Given the description of an element on the screen output the (x, y) to click on. 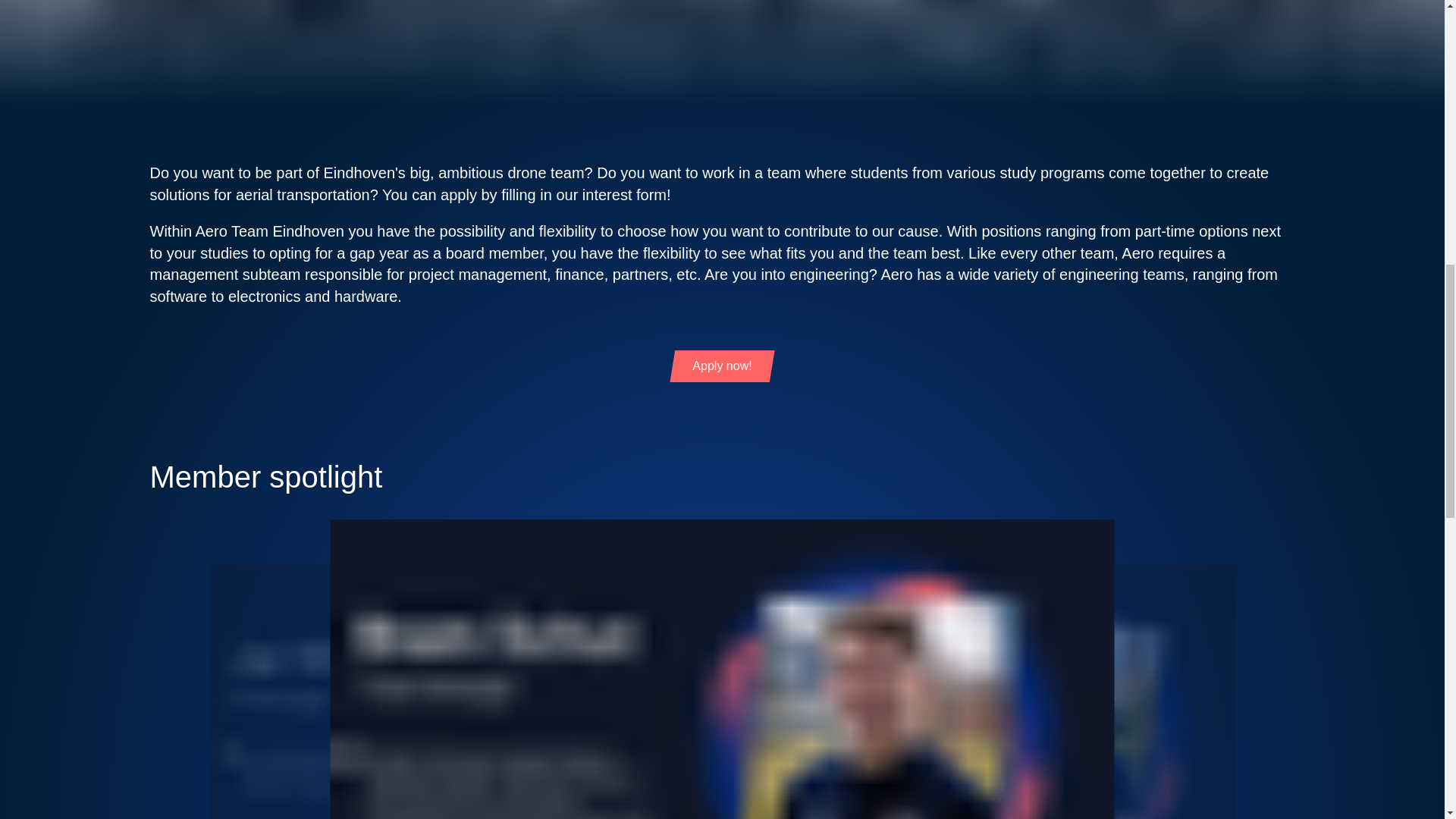
Apply now! (721, 366)
